Given the description of an element on the screen output the (x, y) to click on. 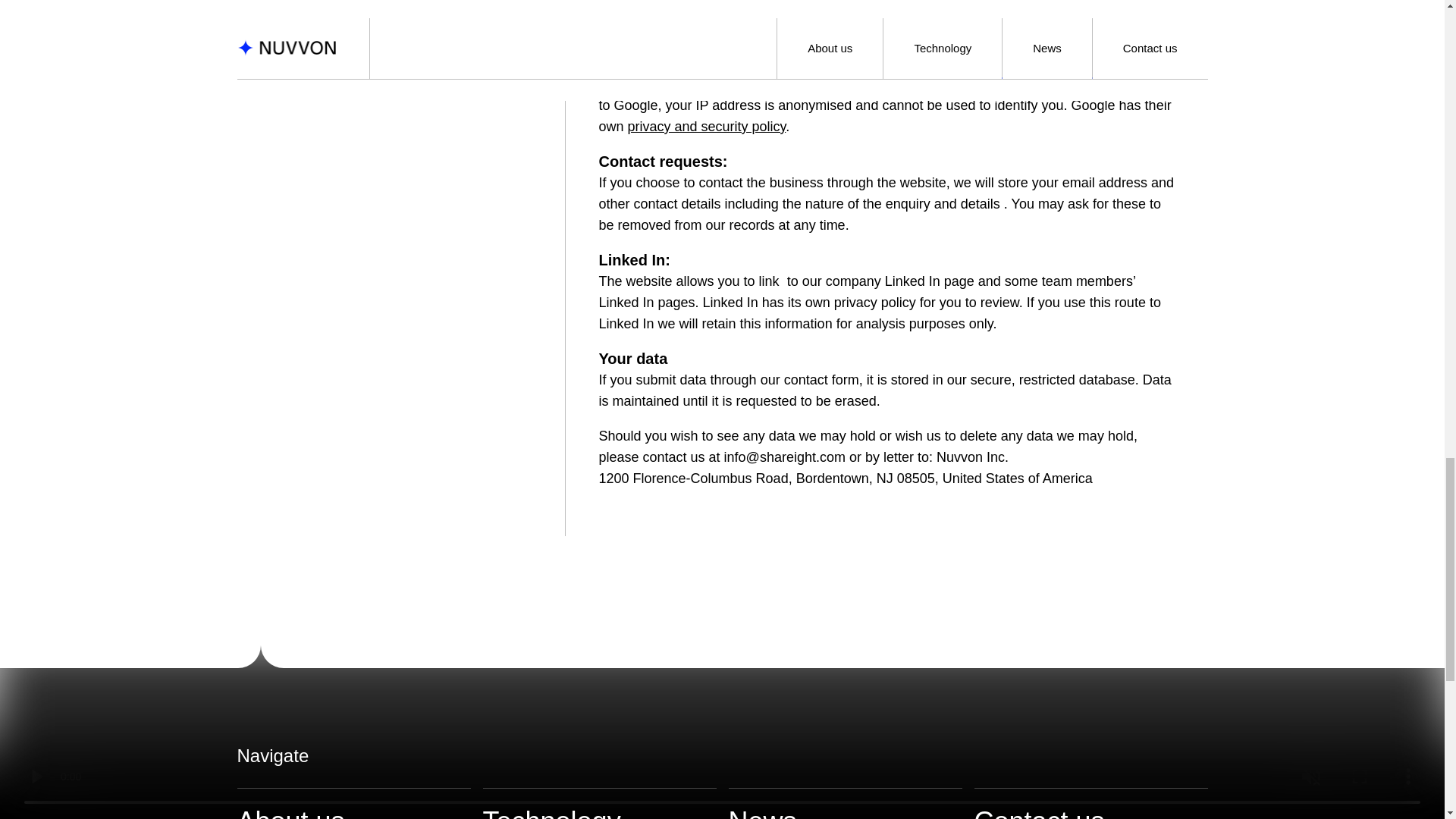
News (844, 803)
Contact us (1090, 803)
Technology (598, 803)
About us (352, 803)
Google Analytics (698, 83)
privacy and security policy (706, 126)
